Given the description of an element on the screen output the (x, y) to click on. 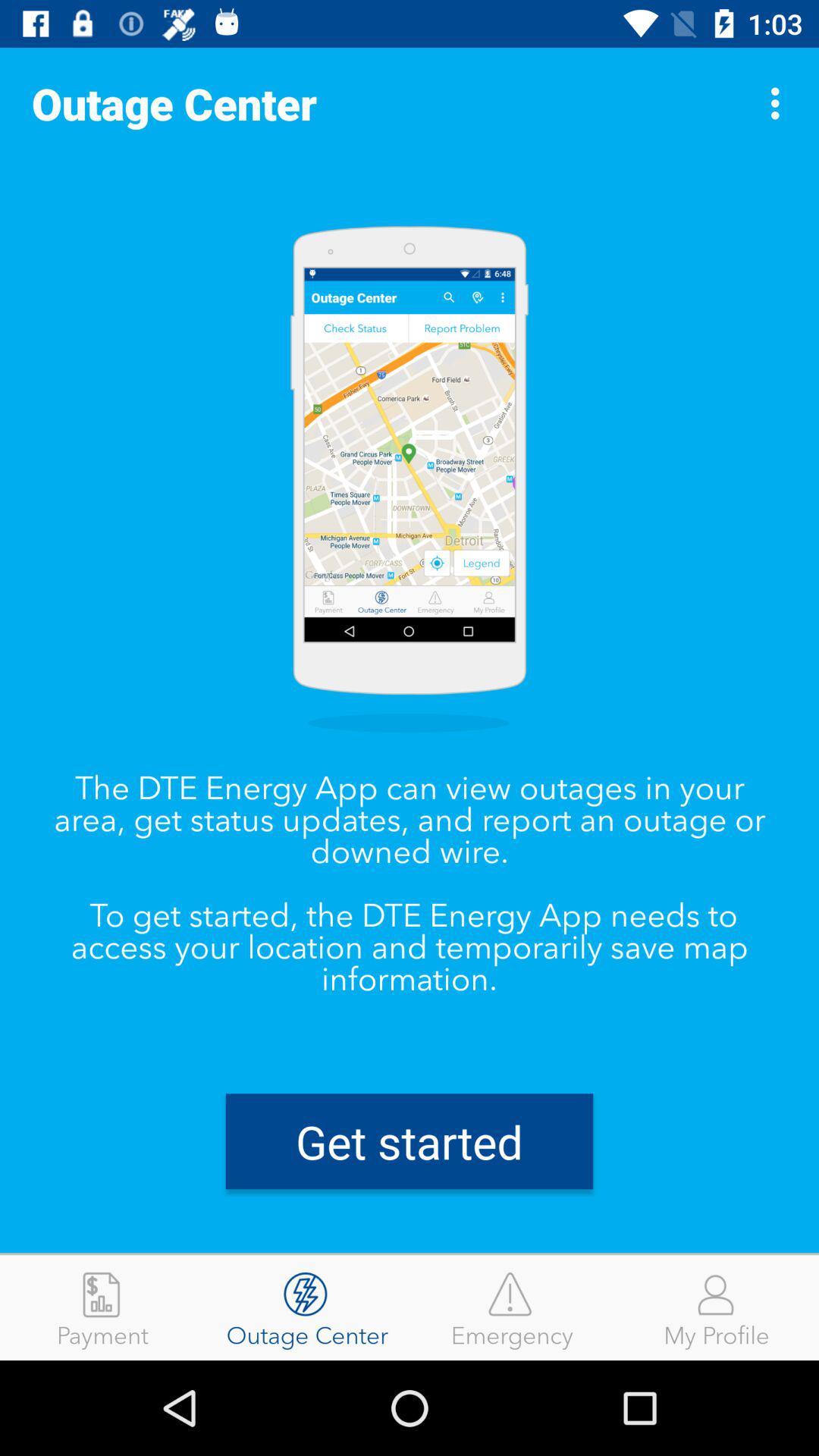
turn on item at the bottom right corner (716, 1307)
